Given the description of an element on the screen output the (x, y) to click on. 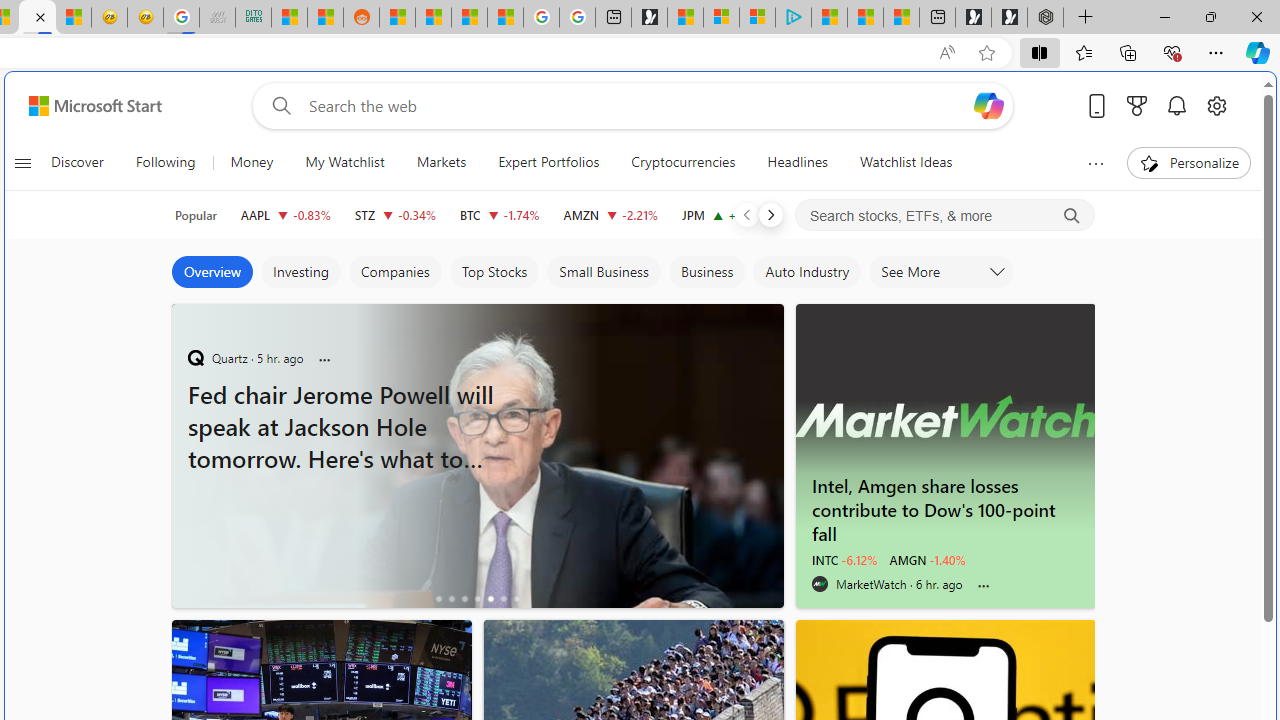
2024 Time Limited Rental Deals (478, 545)
These 3 Stocks Pay You More Than 5% to Own Them (901, 17)
Auto Industry (806, 272)
Small Business (603, 272)
Show more topics (1095, 163)
Markets (441, 162)
Watchlist Ideas (905, 162)
